Given the description of an element on the screen output the (x, y) to click on. 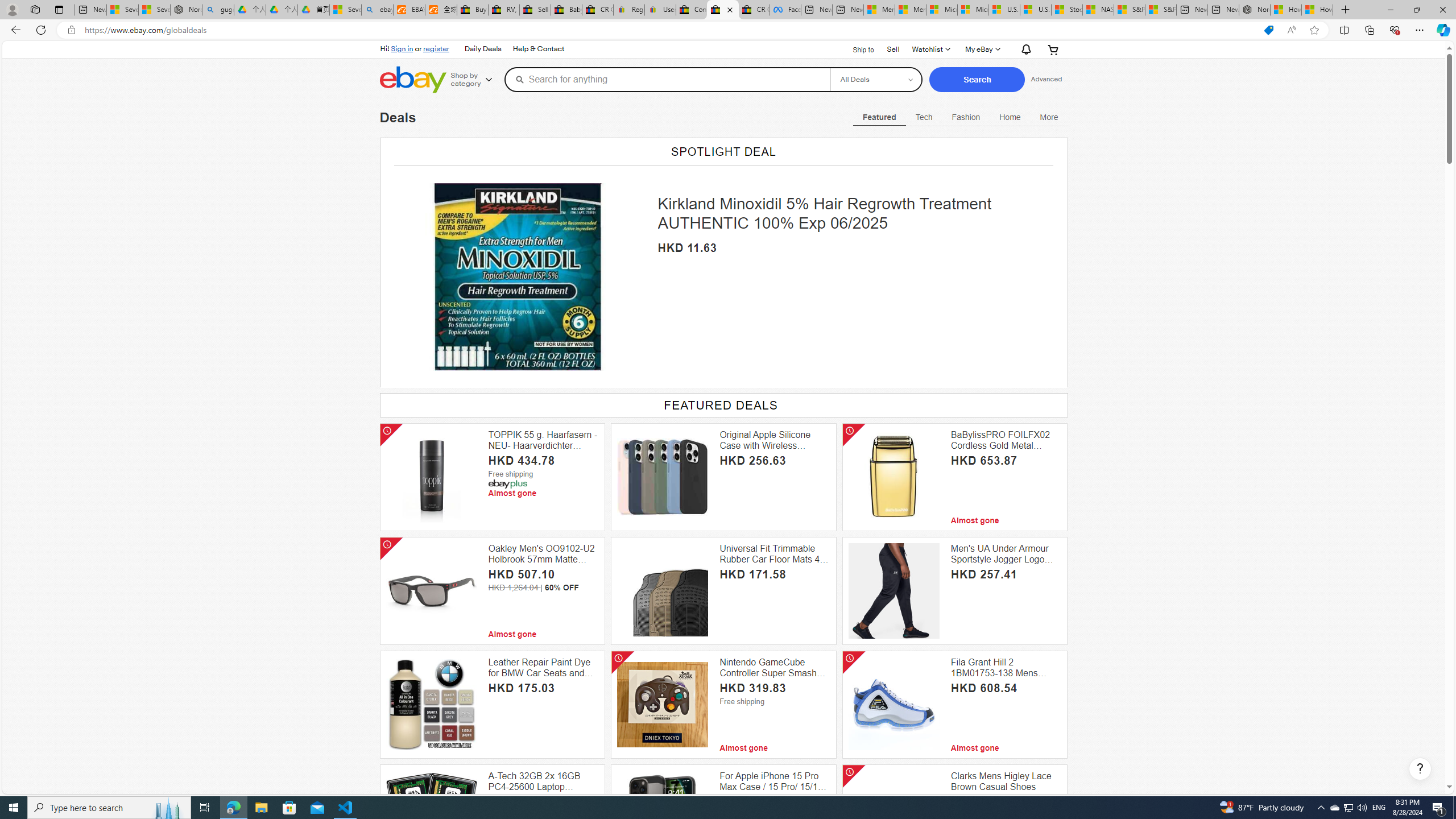
Watchlist (930, 49)
Sell worldwide with eBay (535, 9)
Baby Keepsakes & Announcements for sale | eBay (566, 9)
Register: Create a personal eBay account (628, 9)
Sign in (401, 48)
Help & Contact (537, 49)
Workspaces (34, 9)
Address and search bar (669, 29)
